Given the description of an element on the screen output the (x, y) to click on. 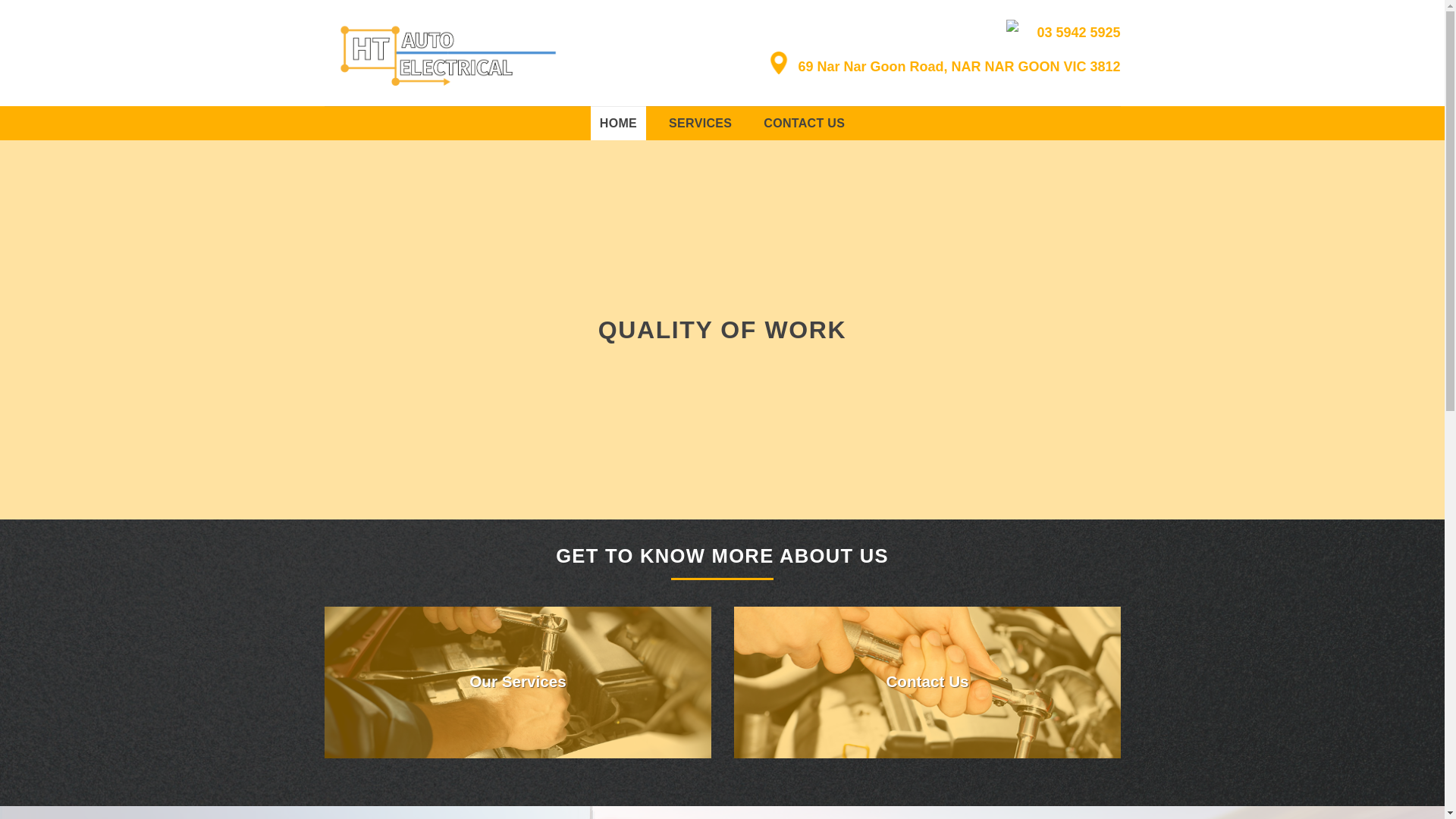
69 Nar Nar Goon Road, NAR NAR GOON VIC 3812 Element type: text (939, 66)
CONTACT US Element type: text (803, 123)
H T Auto Electrical - H T Auto Electrical
 Element type: hover (449, 53)
SERVICES Element type: text (699, 123)
HOME Element type: text (618, 123)
03 5942 5925 Element type: text (1059, 32)
